Given the description of an element on the screen output the (x, y) to click on. 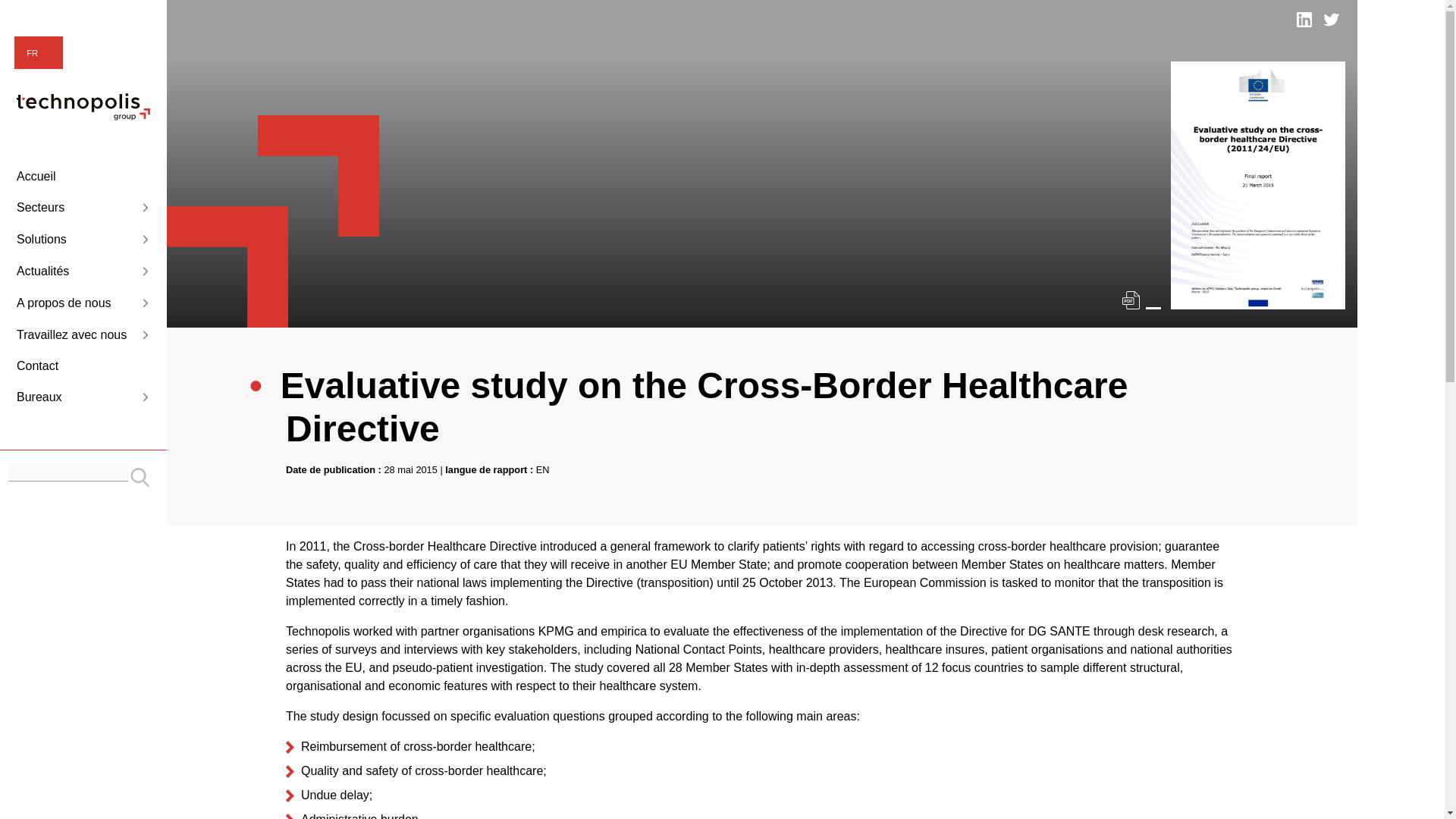
Secteurs (82, 207)
technopolis (82, 115)
FR (38, 53)
LinkedIn (1304, 19)
Travaillez avec nous (82, 334)
Accueil (82, 176)
Solutions (82, 239)
FR (38, 53)
Twitter (1331, 19)
A propos de nous (82, 302)
